Given the description of an element on the screen output the (x, y) to click on. 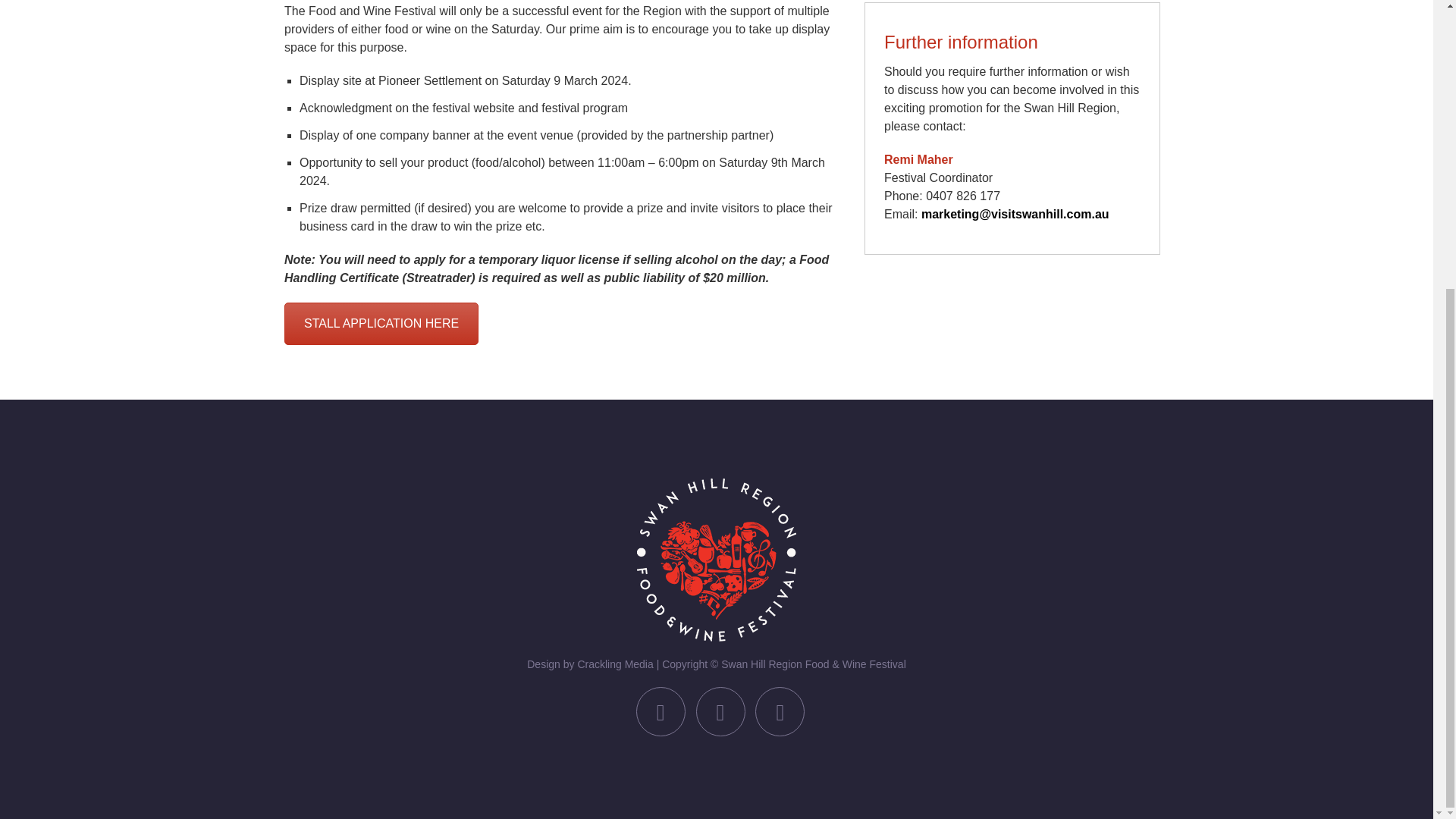
STALL APPLICATION HERE (381, 323)
